Given the description of an element on the screen output the (x, y) to click on. 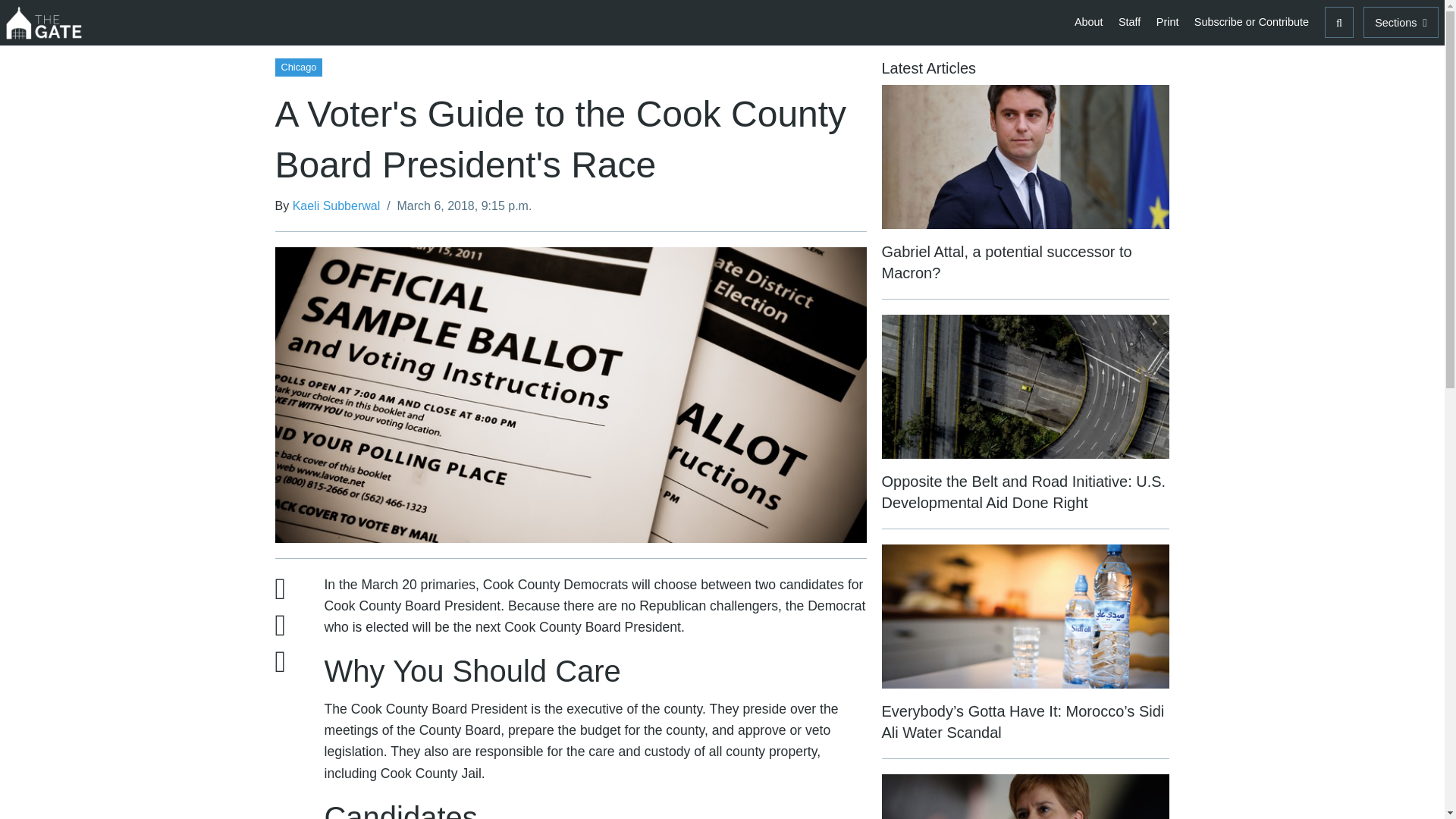
Staff (1129, 21)
Gabriel Attal, a potential successor to Macron? (1024, 192)
Print (1167, 21)
About (1088, 21)
Sections   (1400, 21)
Kaeli Subberwal (336, 205)
The swift demise of the cult of Nicola Sturgeon (1024, 796)
Subscribe or Contribute (1251, 21)
Chicago (298, 65)
